Given the description of an element on the screen output the (x, y) to click on. 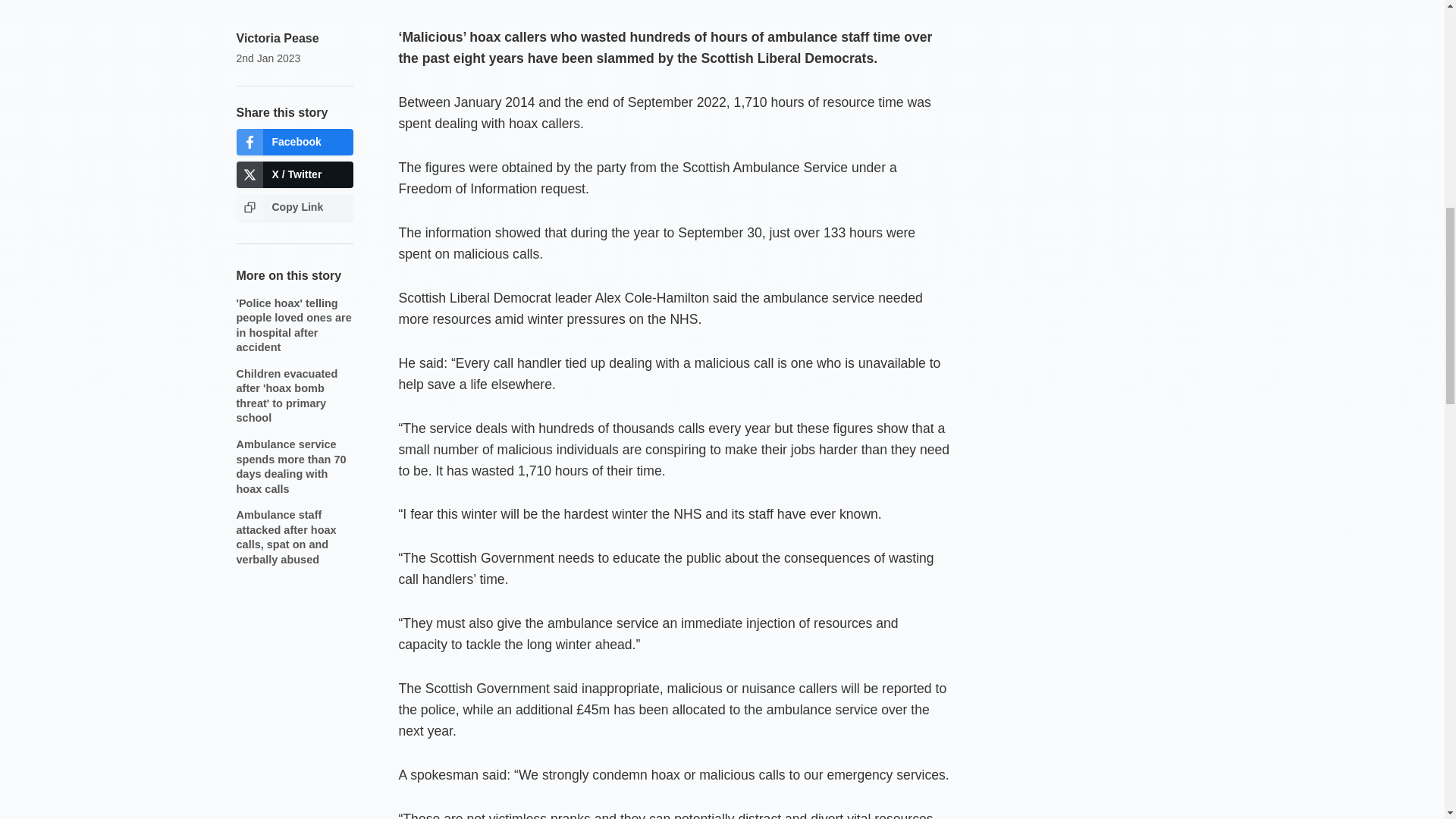
Victoria Pease (276, 38)
Facebook (294, 141)
